Given the description of an element on the screen output the (x, y) to click on. 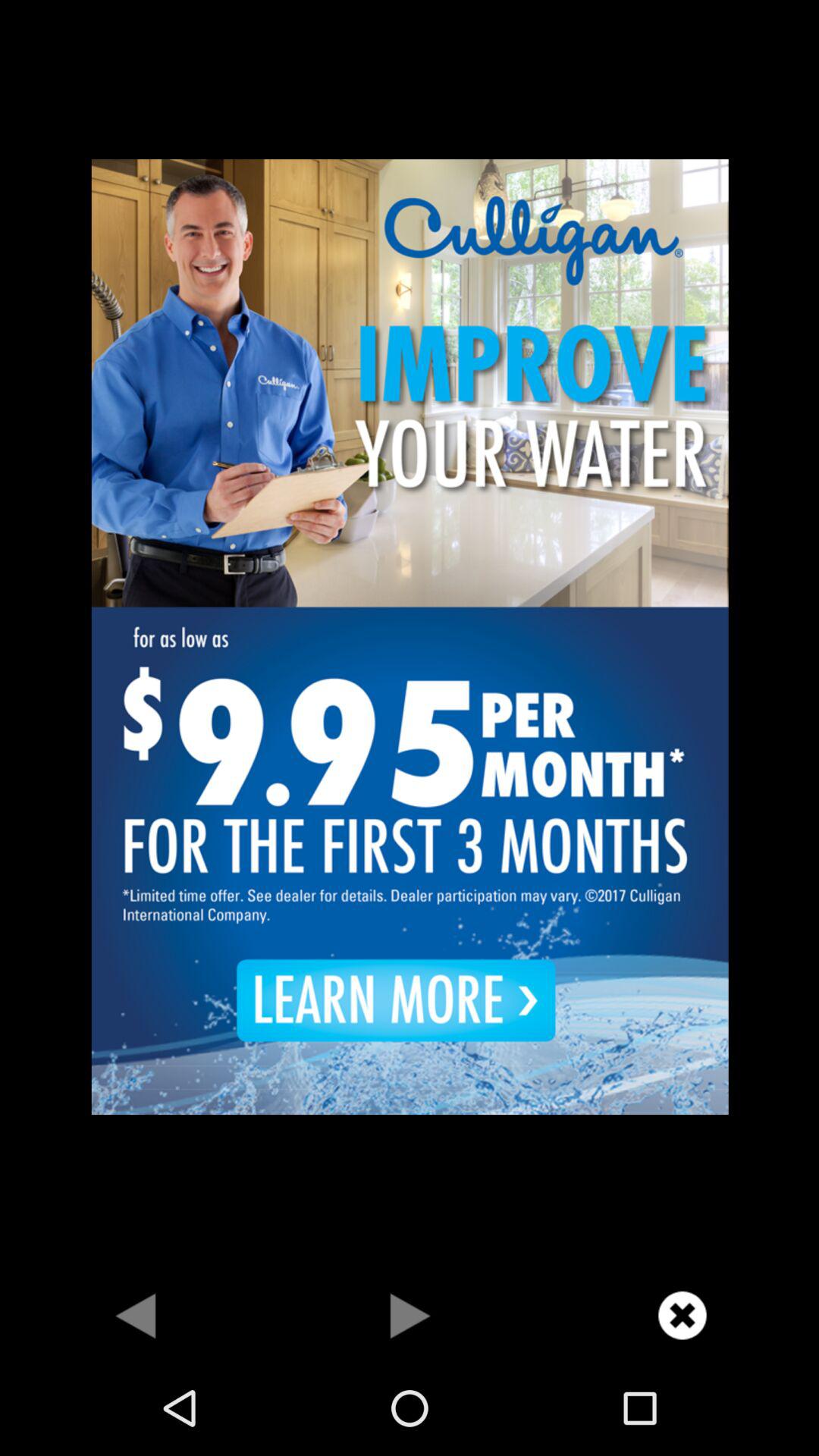
go back (136, 1315)
